Given the description of an element on the screen output the (x, y) to click on. 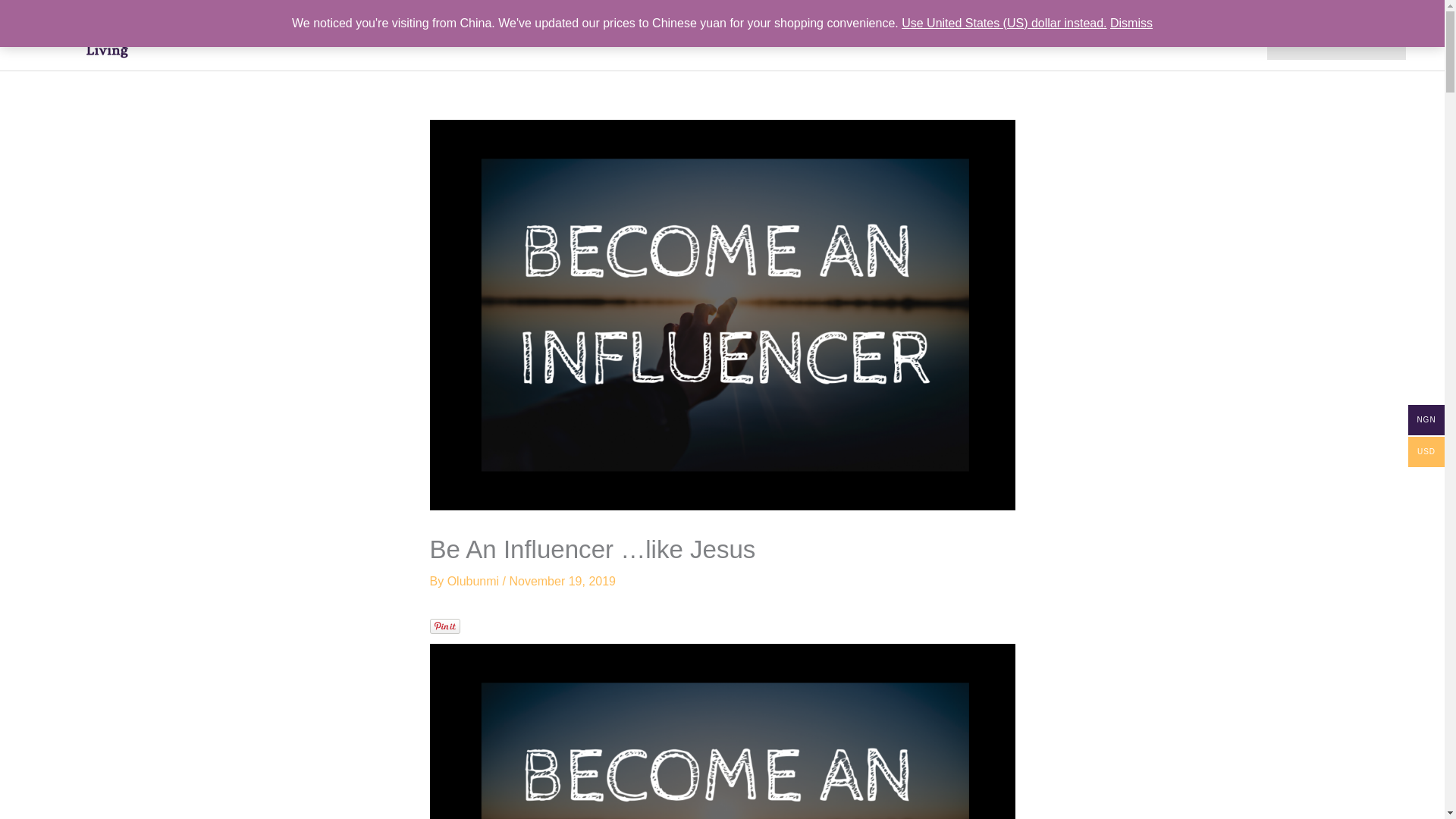
Olubunmi (474, 581)
Pin It (444, 626)
About (977, 35)
View all posts by Olubunmi (474, 581)
New? Start Here! (1336, 35)
